Given the description of an element on the screen output the (x, y) to click on. 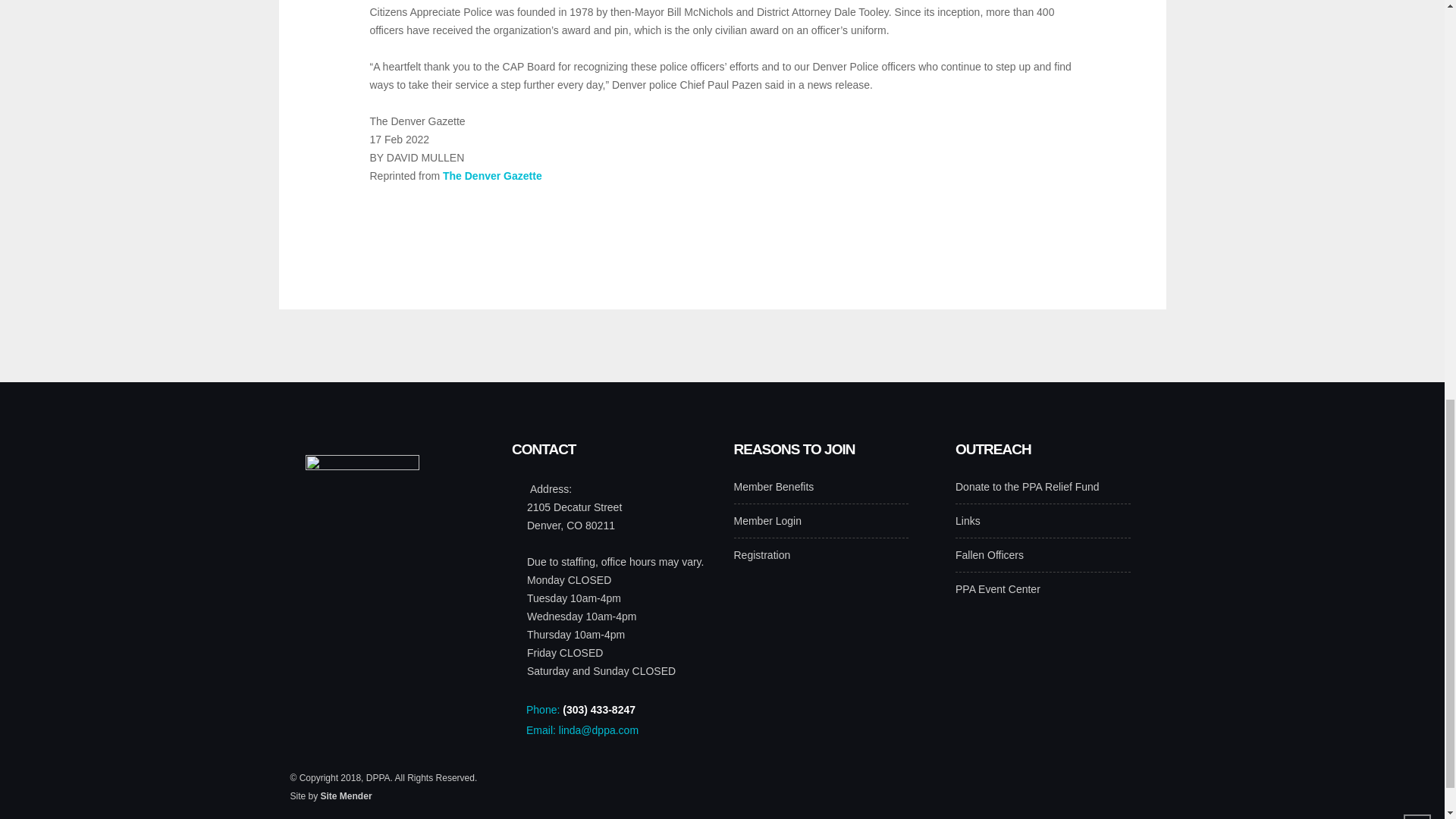
Fallen Officers (989, 558)
Member Login (767, 524)
PPA Event Center (998, 592)
Member Benefits (773, 490)
Donate to the PPA Relief Fund (1027, 490)
Links (967, 524)
Registration (761, 558)
Site Mender (346, 796)
Site Mender (346, 796)
The Denver Gazette (491, 175)
